Given the description of an element on the screen output the (x, y) to click on. 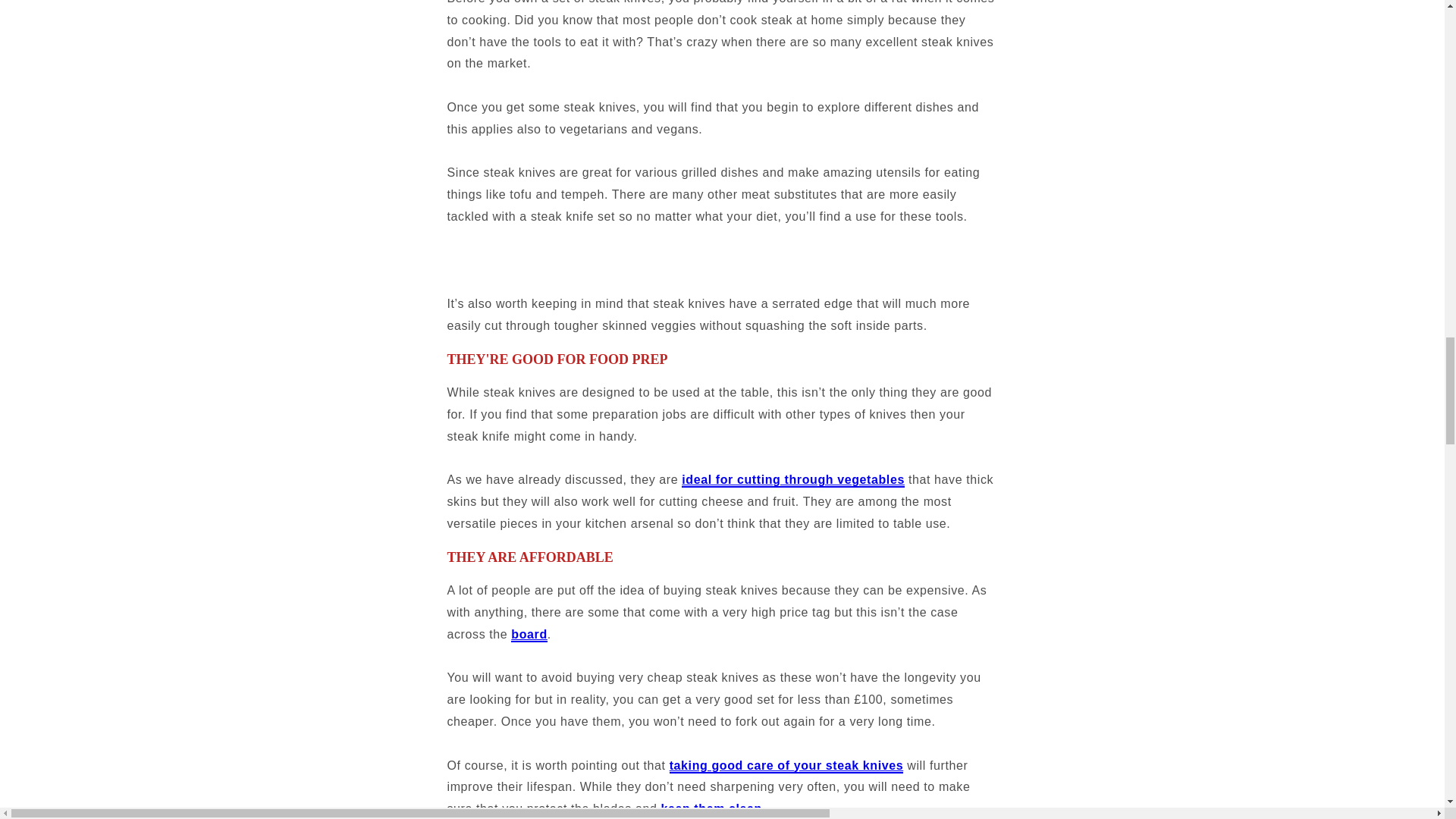
board (529, 635)
Can You Put Chef Knives in the Dishwasher? (711, 809)
Complete Chef Knife Guide (786, 765)
Which Is the Best Chopping Board? (529, 635)
Which Knife Is Best to Cut Vegetables? (792, 480)
ideal for cutting through vegetables (792, 480)
